Given the description of an element on the screen output the (x, y) to click on. 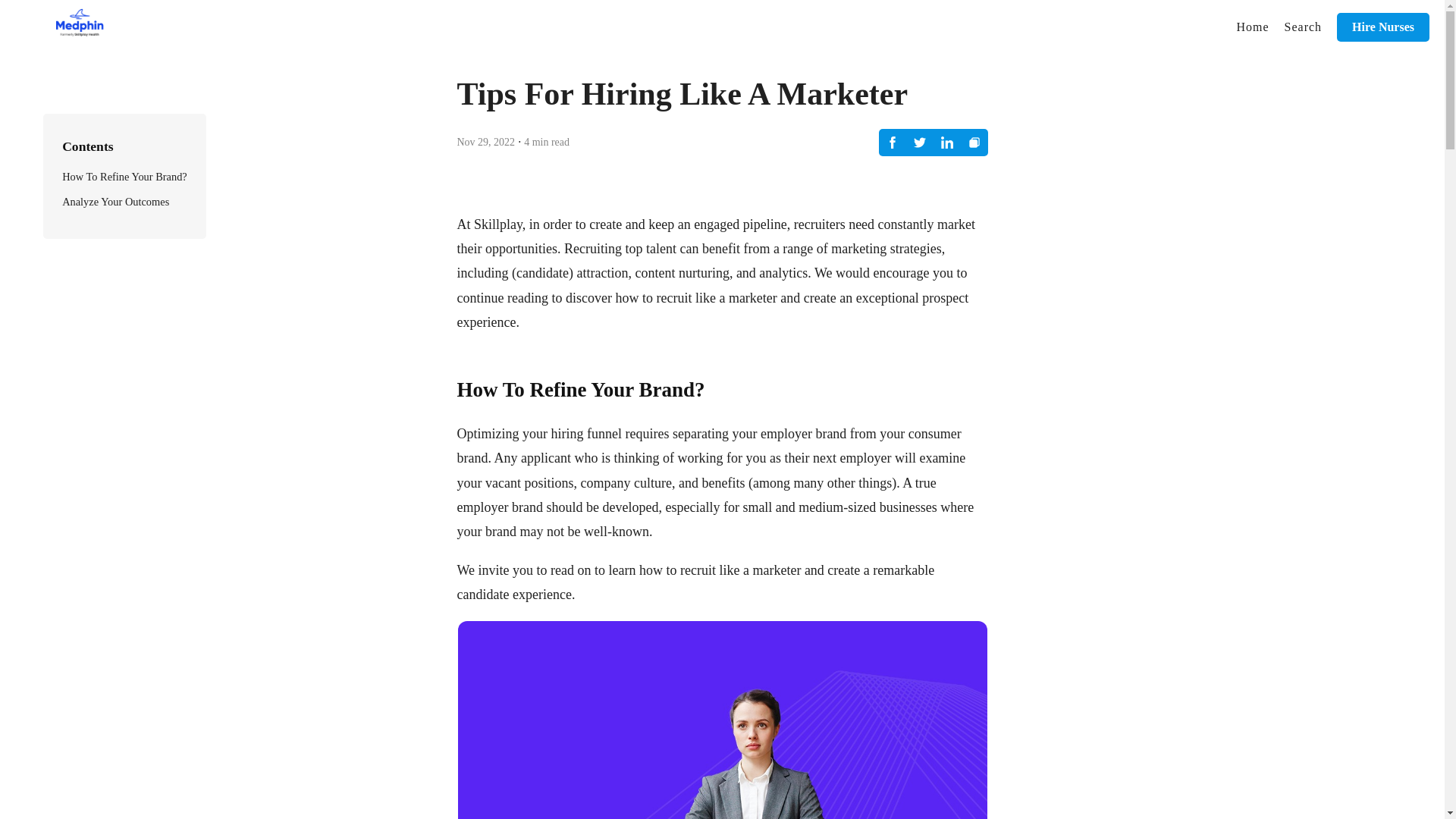
Analyze Your Outcomes (115, 201)
Hire Nurses (1383, 26)
Search (1303, 26)
How To Refine Your Brand? (124, 176)
Home (1252, 26)
Hire Nurses (1382, 26)
